Given the description of an element on the screen output the (x, y) to click on. 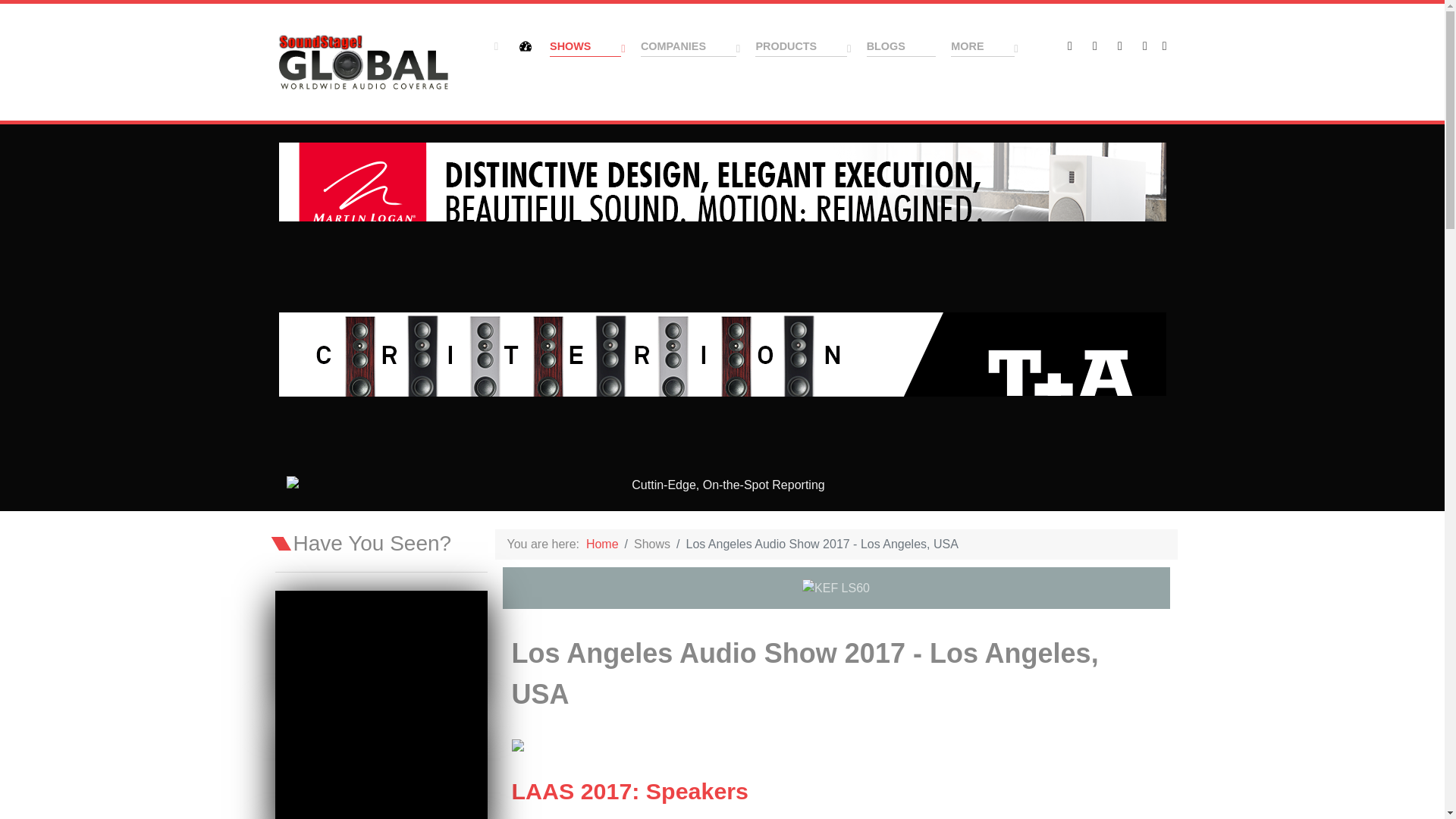
Home (499, 45)
